Given the description of an element on the screen output the (x, y) to click on. 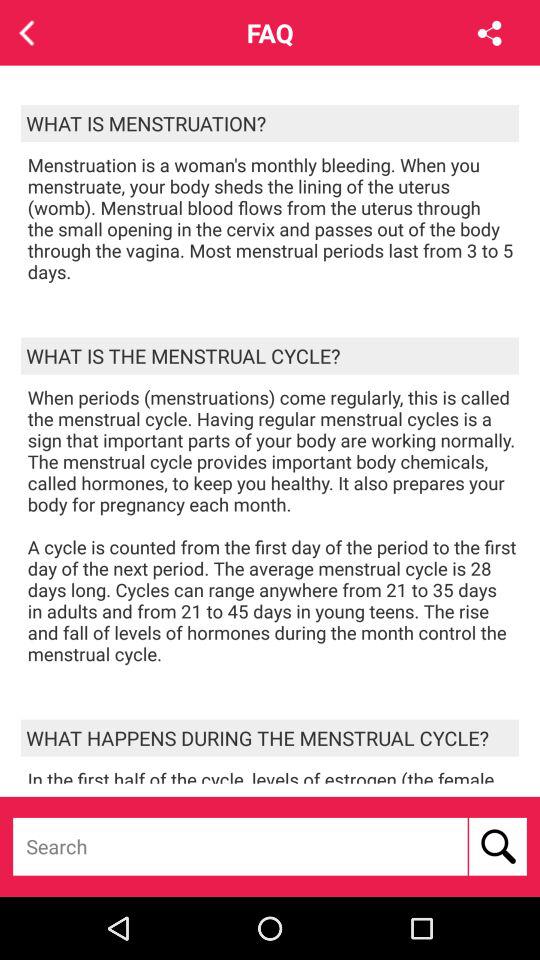
swipe to when periods menstruations app (273, 525)
